Given the description of an element on the screen output the (x, y) to click on. 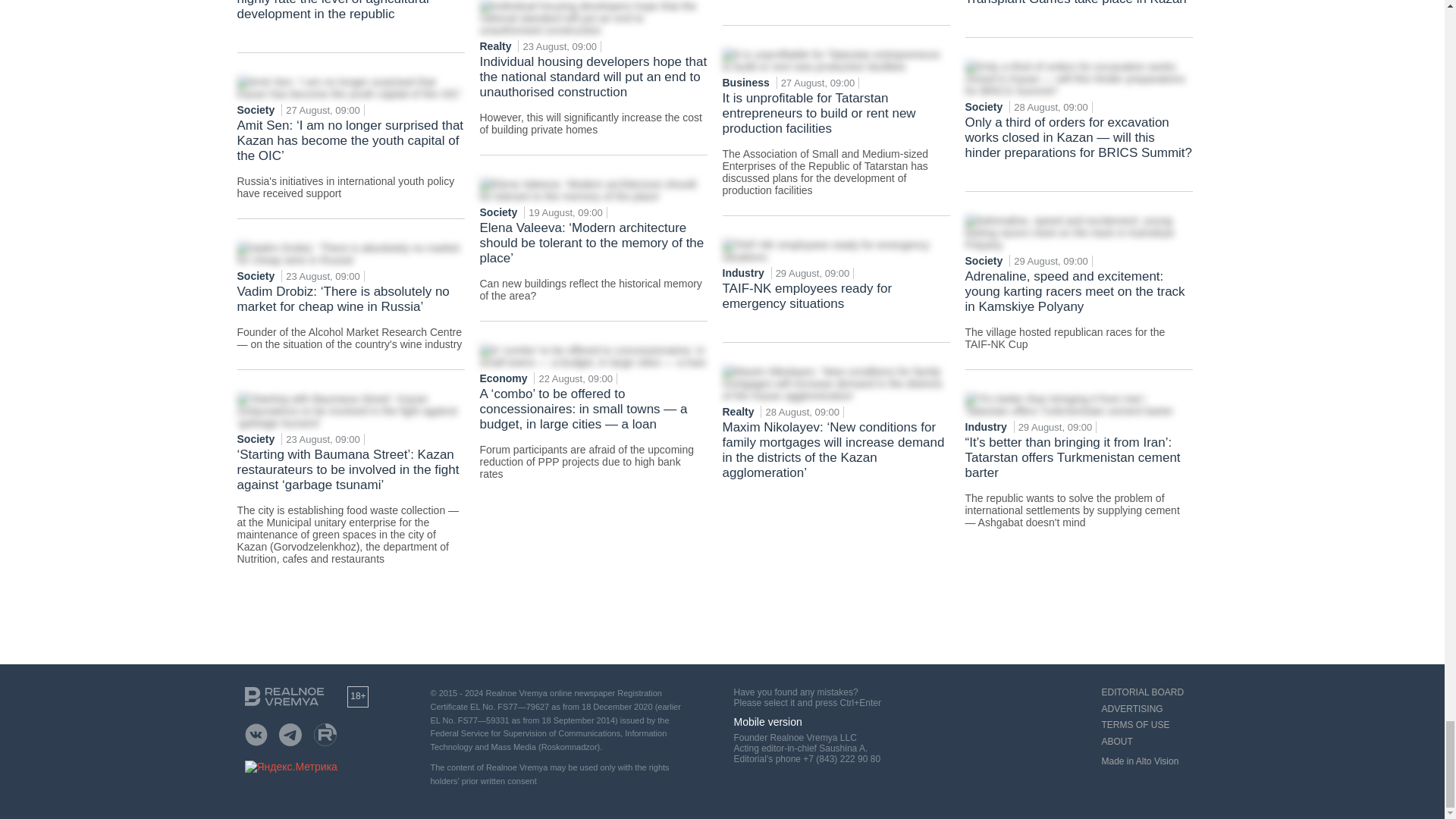
Society (256, 275)
Society (256, 439)
Society (256, 110)
